Given the description of an element on the screen output the (x, y) to click on. 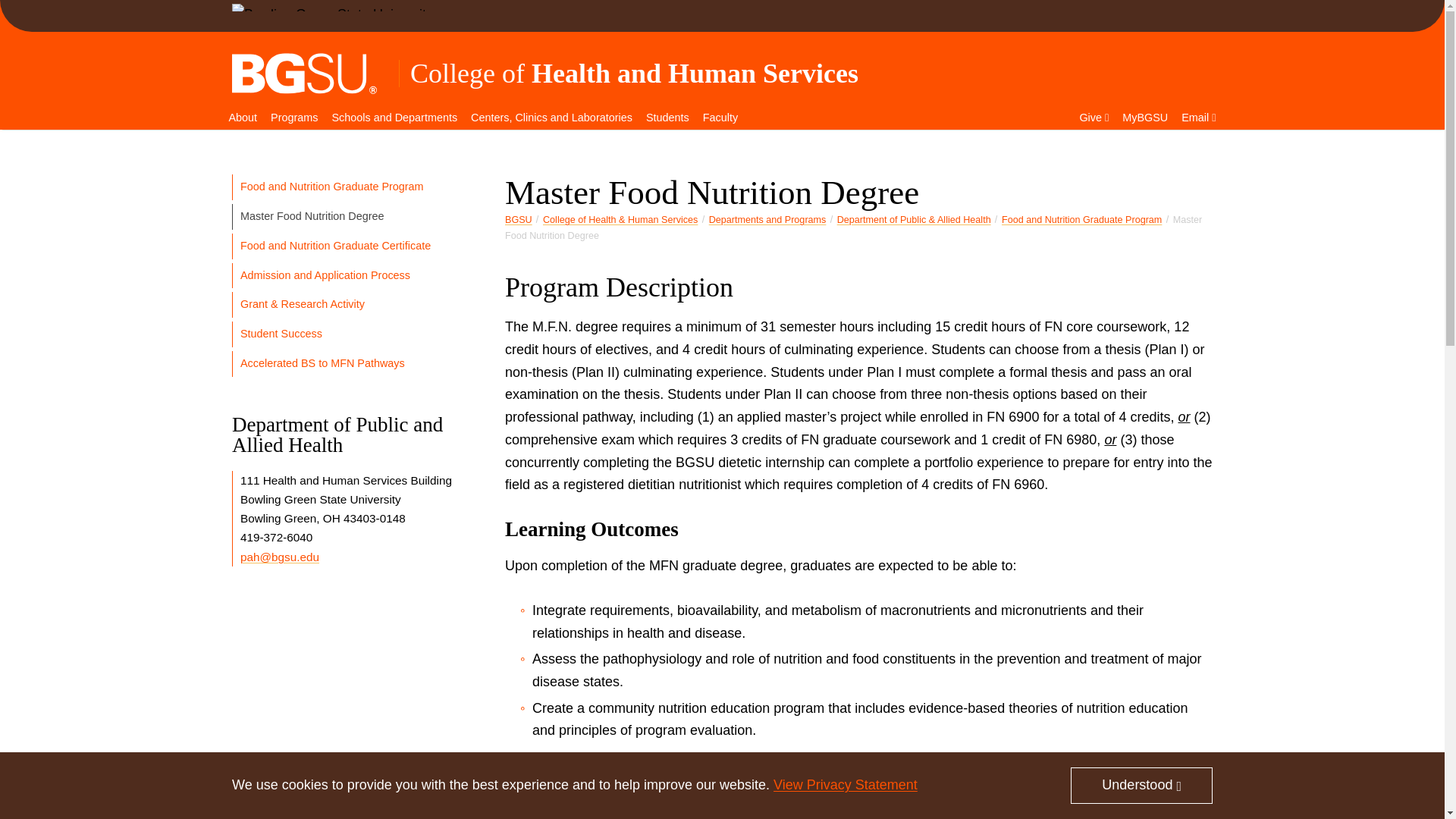
Understood  (1141, 785)
College of Health and Human Services (634, 73)
Programs (293, 117)
About (242, 117)
View Privacy Statement (845, 784)
